Given the description of an element on the screen output the (x, y) to click on. 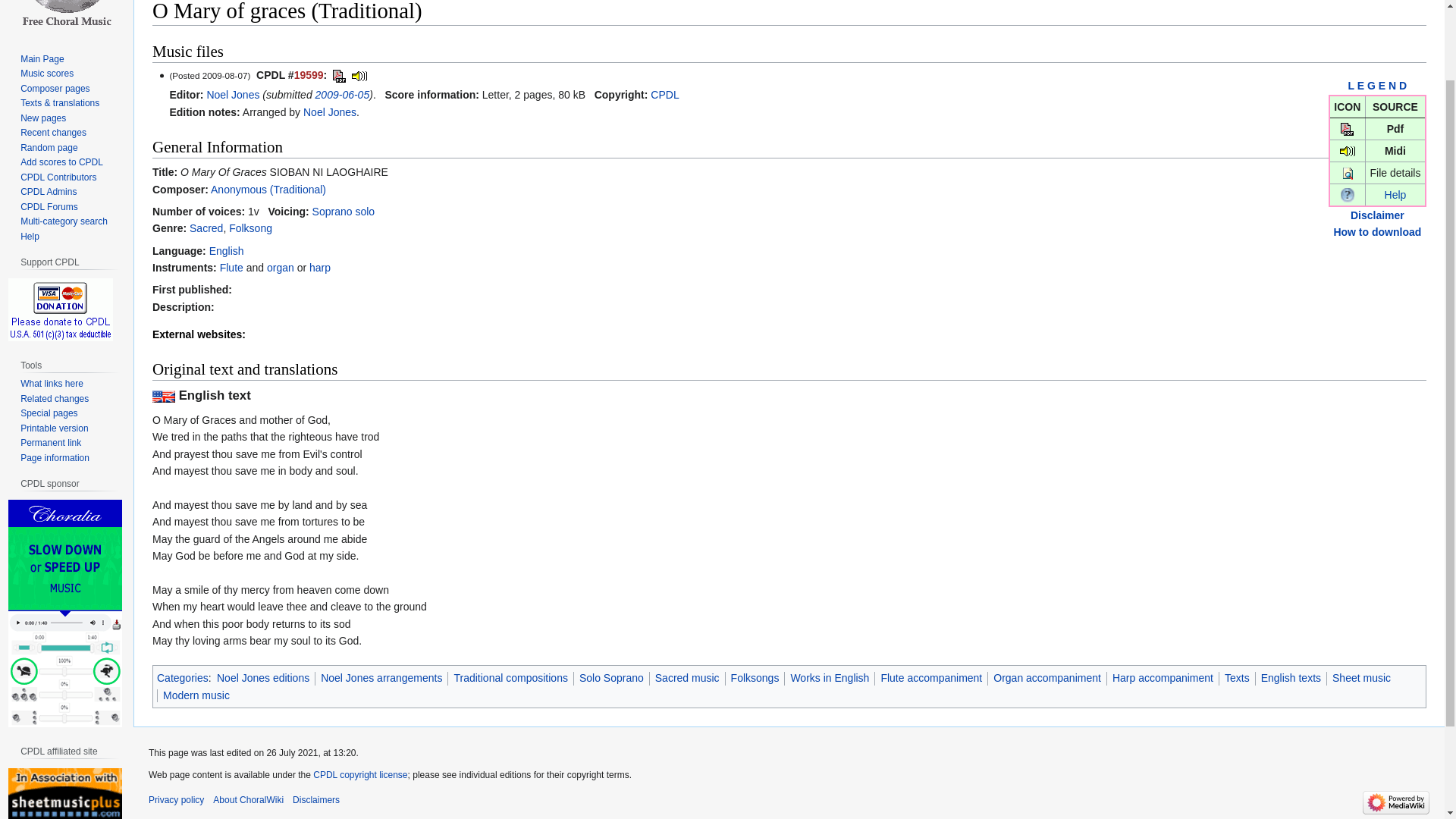
Traditional compositions (509, 677)
Sacred music (687, 677)
Noel Jones editions (262, 677)
Category:Sacred music (205, 227)
Texts (1236, 677)
Category:Noel Jones arrangements (329, 111)
Sheet music (1361, 677)
ChoralWiki:Disclaimer (1378, 215)
Disclaimer (1378, 215)
organ (280, 267)
L E G E N D (1377, 85)
Template:Legend (1377, 85)
Category:Flute accompaniment (231, 267)
Help (1347, 194)
Noel Jones (232, 94)
